Given the description of an element on the screen output the (x, y) to click on. 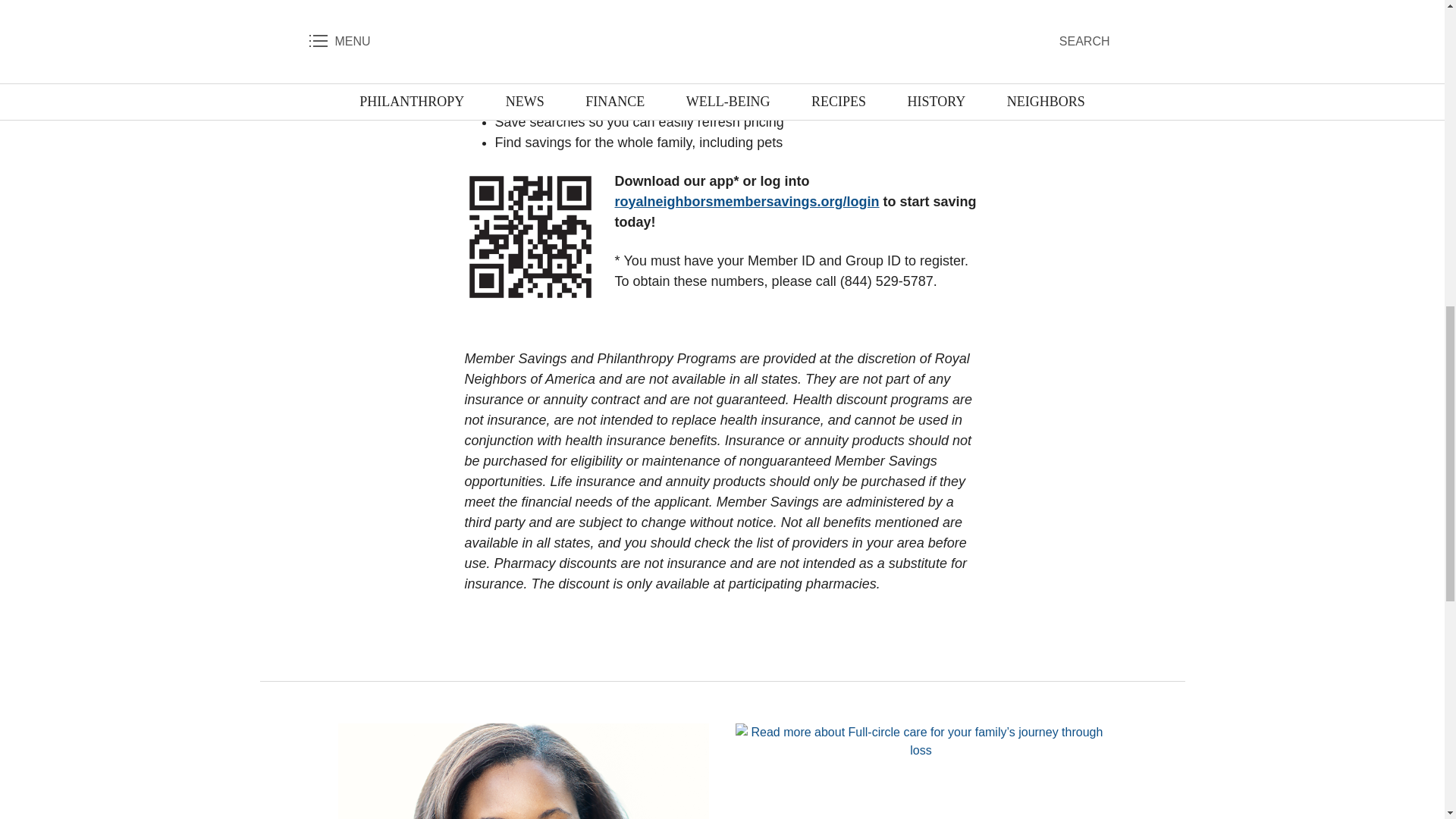
Share on Pinterest (753, 623)
Share on Facebook (690, 623)
Share on LinkedIn (722, 623)
Pinterest (753, 623)
LinkedIn (722, 623)
Facebook (690, 623)
